Given the description of an element on the screen output the (x, y) to click on. 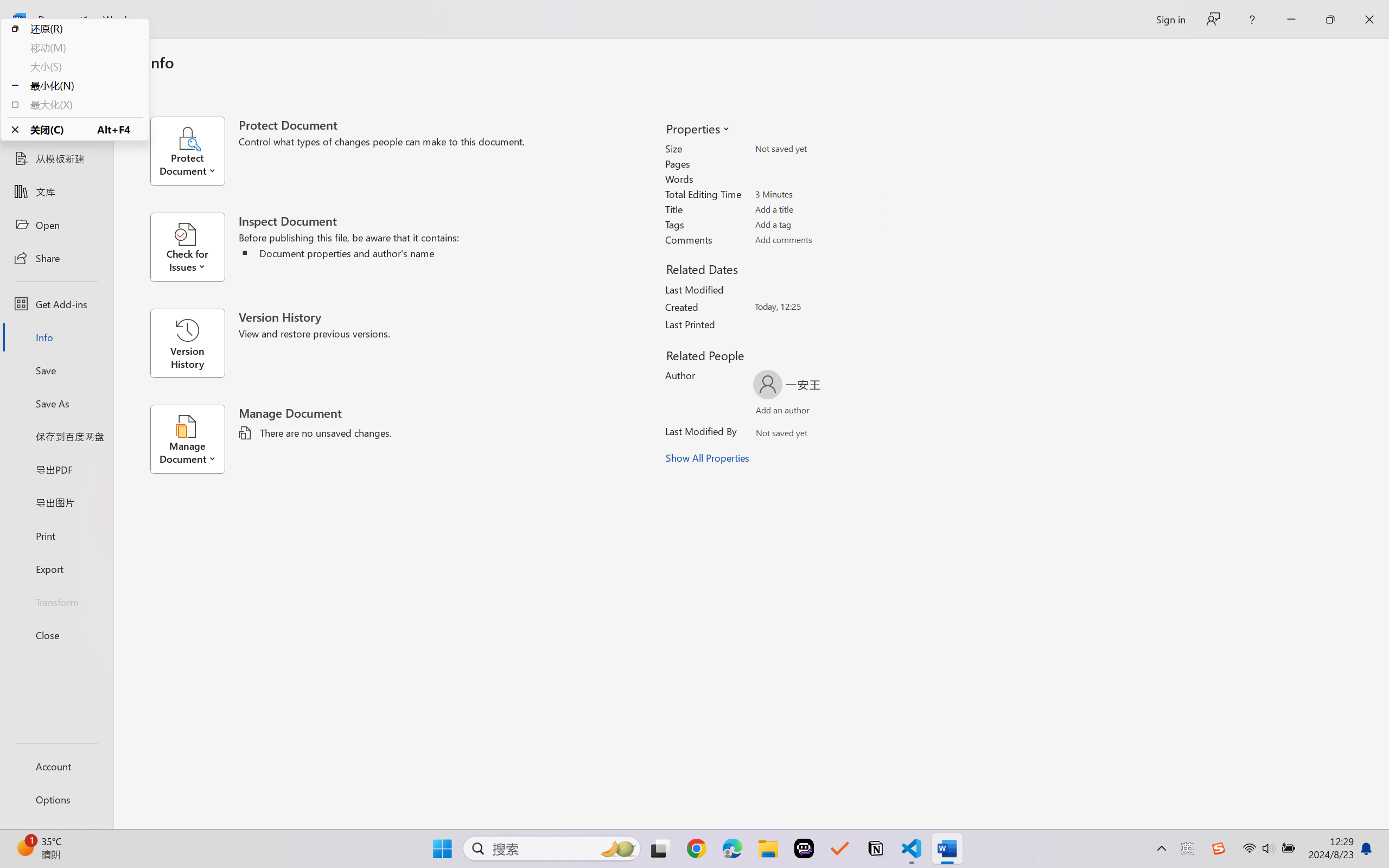
Check for Issues (194, 246)
Print (56, 535)
Account (56, 765)
Size (818, 148)
Words (818, 178)
